Given the description of an element on the screen output the (x, y) to click on. 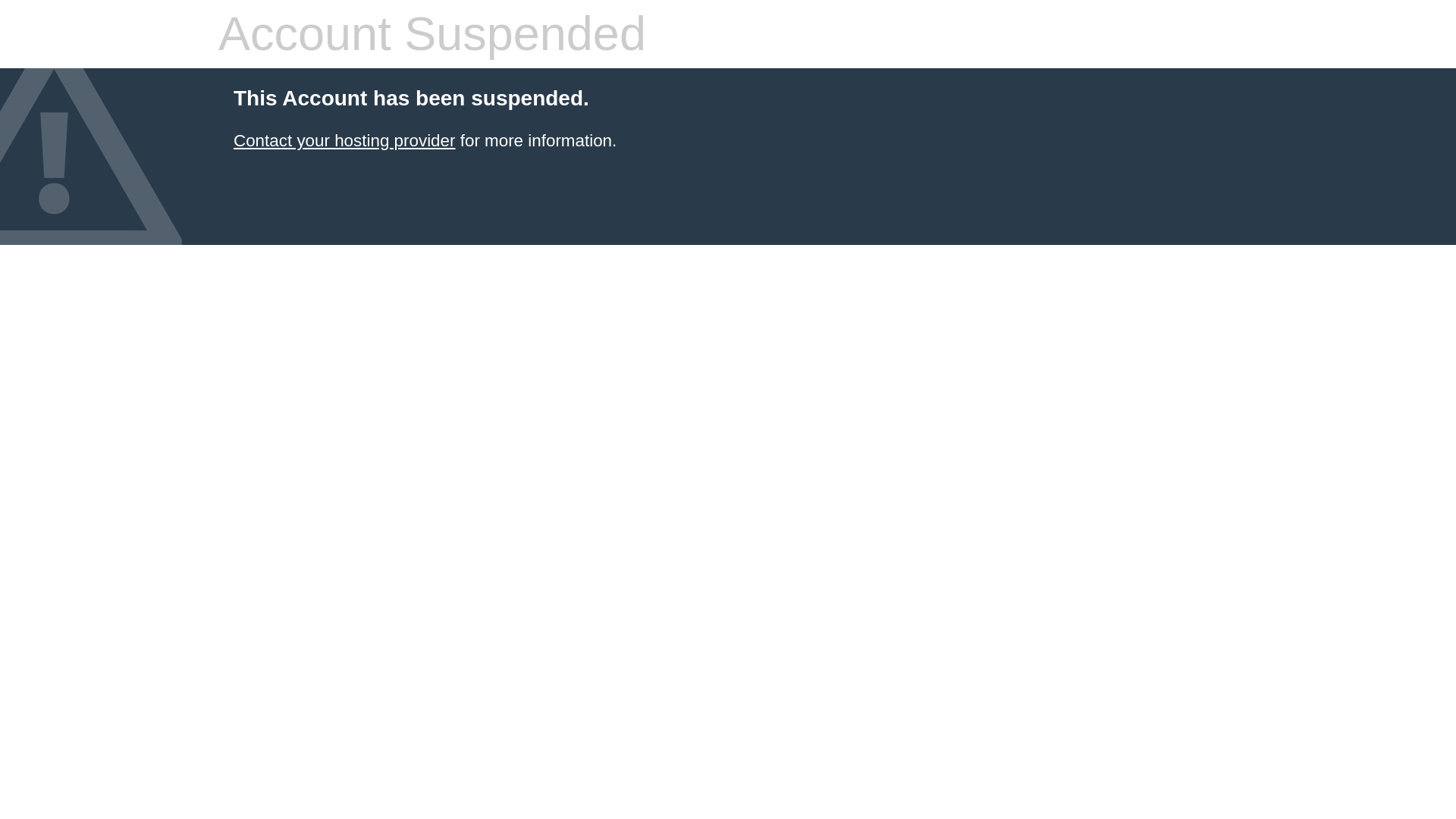
Contact your hosting provider (343, 140)
